Given the description of an element on the screen output the (x, y) to click on. 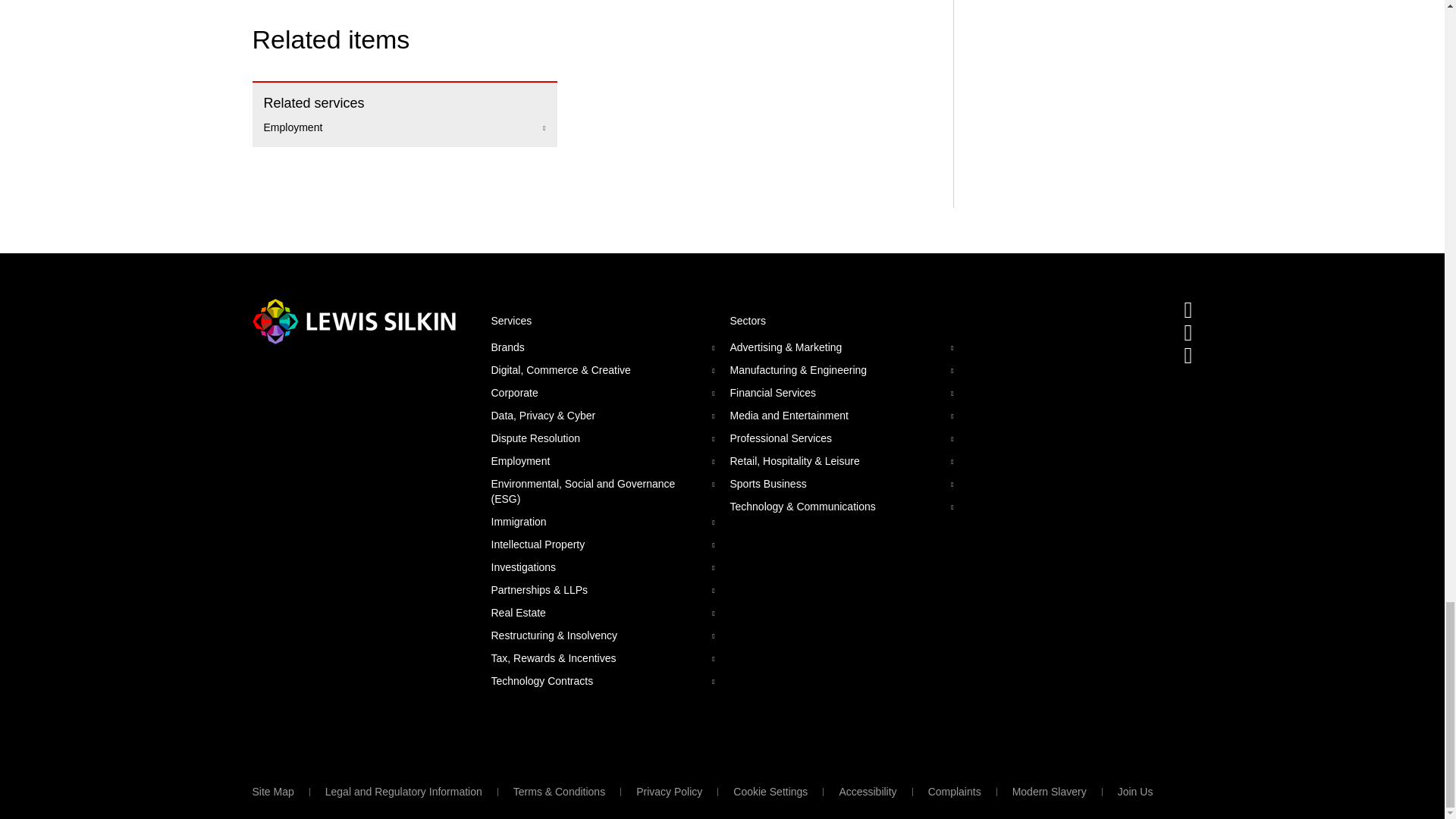
Opens in a new tab (1188, 355)
Opens in a new tab (1188, 309)
Opens in a new tab (1188, 332)
